Given the description of an element on the screen output the (x, y) to click on. 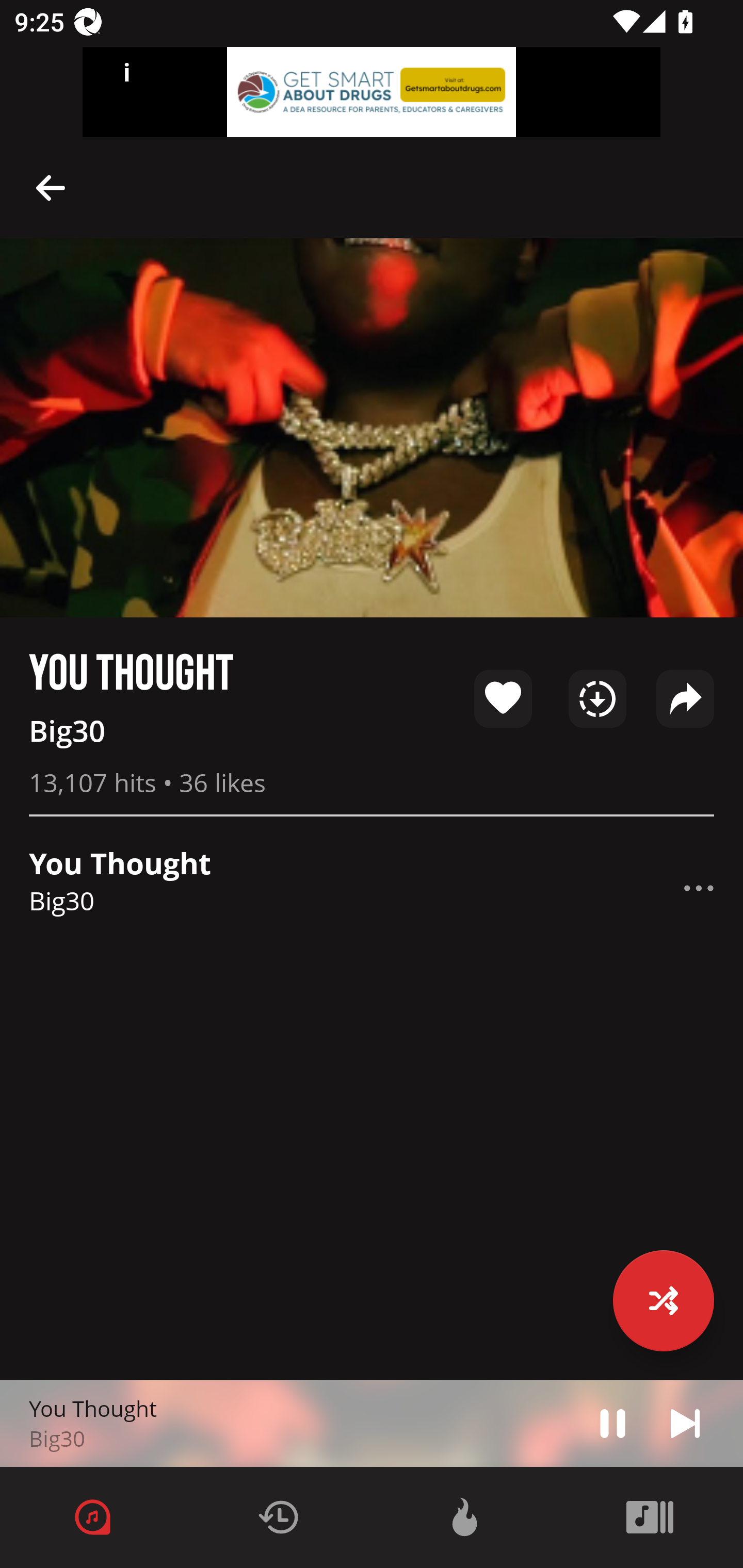
Description (50, 187)
You Thought Big30 Description (371, 888)
Description (698, 888)
You Thought Big30 Description Description (371, 1423)
Description (612, 1422)
Description (685, 1422)
